Given the description of an element on the screen output the (x, y) to click on. 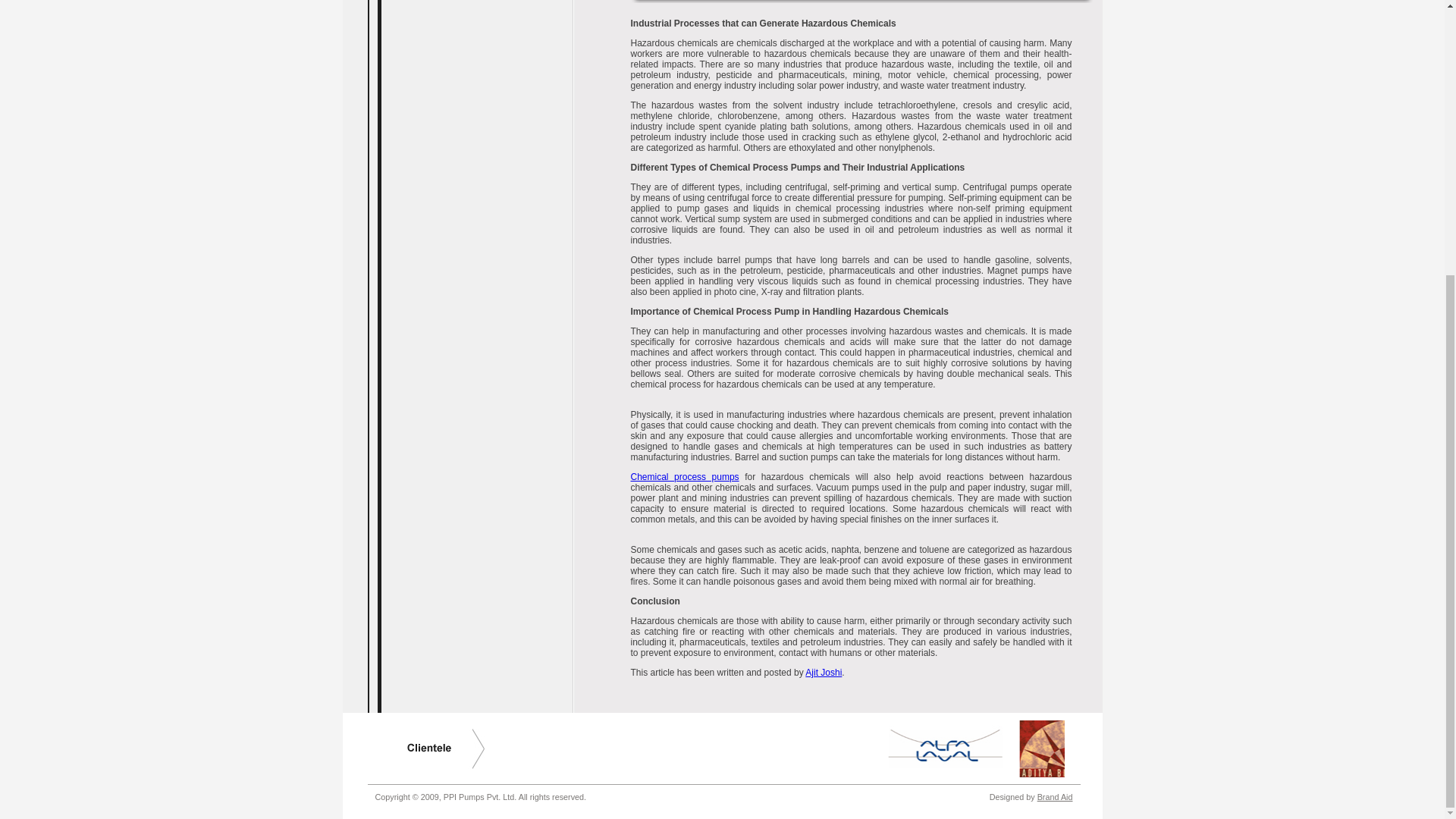
Ajit Joshi (823, 672)
Chemical process pumps (684, 476)
Brand Aid (1054, 796)
